Given the description of an element on the screen output the (x, y) to click on. 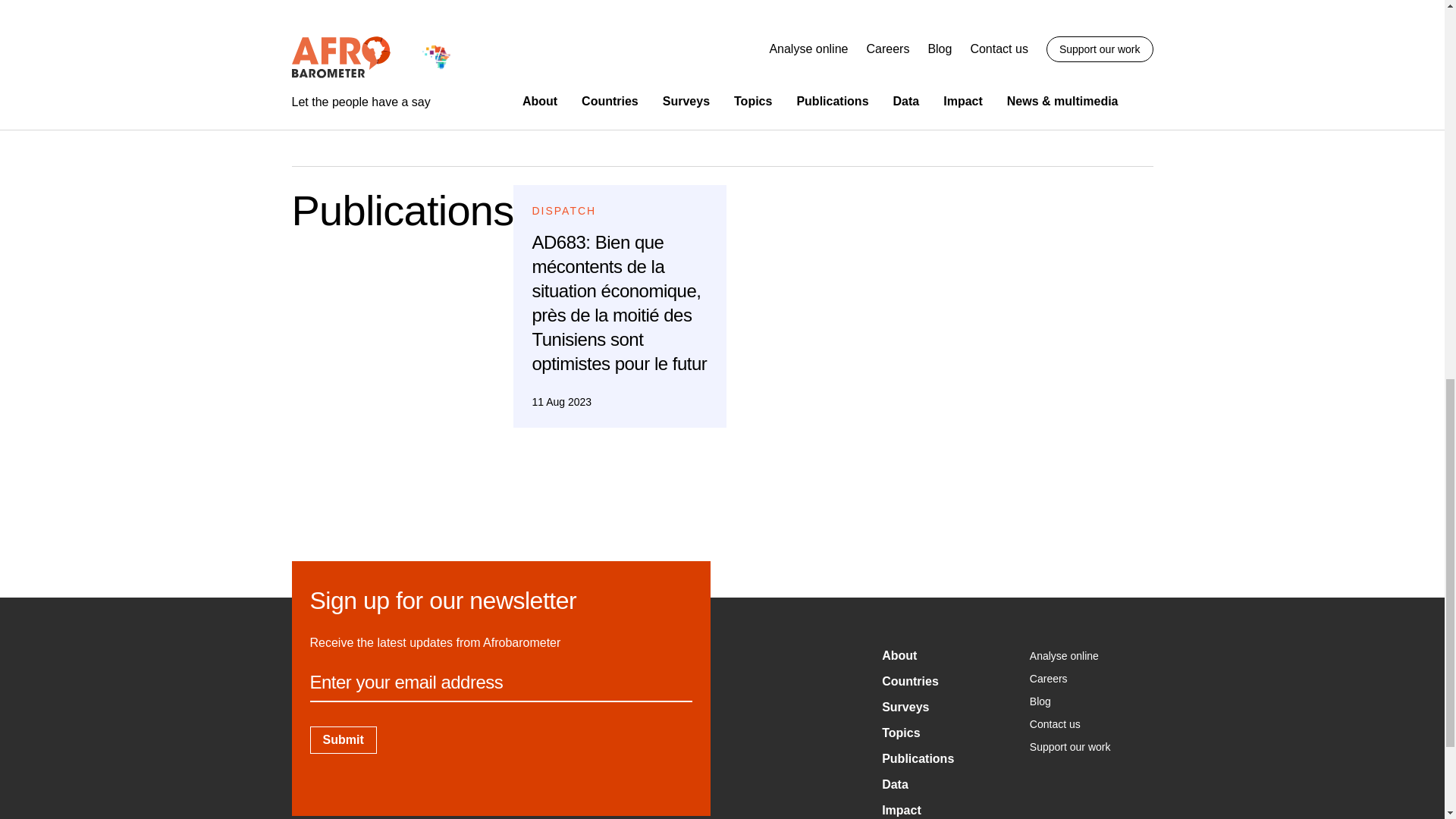
Search for Tunisia (457, 72)
Search for Arabic (454, 36)
